Given the description of an element on the screen output the (x, y) to click on. 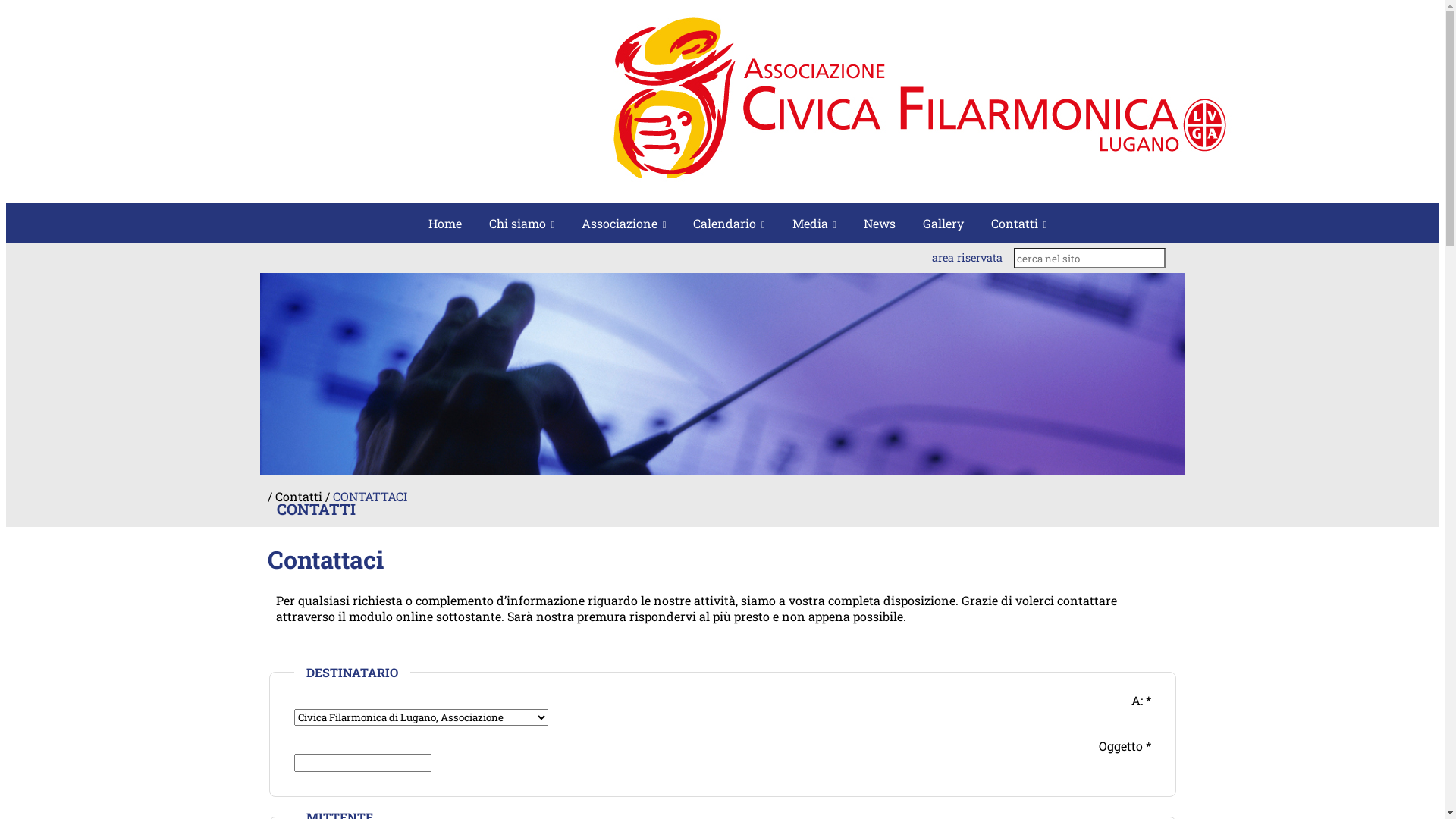
Gallery Element type: text (942, 223)
Media Element type: text (814, 223)
Associazione Element type: text (623, 223)
Contatti Element type: text (1018, 223)
CONTATTACI Element type: text (369, 496)
Calendario Element type: text (728, 223)
News Element type: text (879, 223)
Home Element type: text (444, 223)
area riservata Element type: text (966, 257)
Chi siamo Element type: text (521, 223)
